Given the description of an element on the screen output the (x, y) to click on. 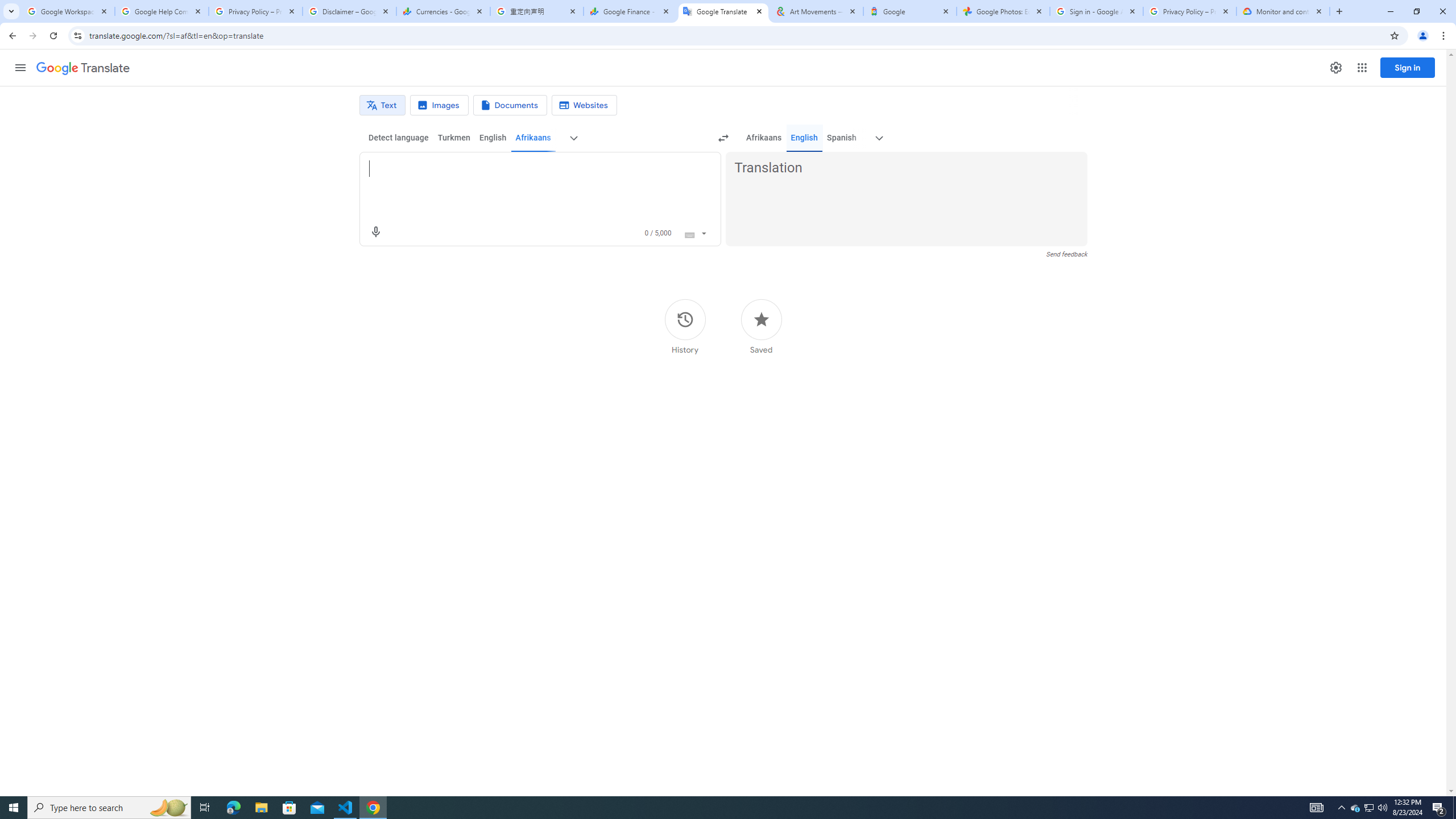
0 of 5,000 characters used (658, 232)
Image translation (439, 105)
Source text (529, 167)
Website translation (584, 105)
Turkmen (453, 137)
